Given the description of an element on the screen output the (x, y) to click on. 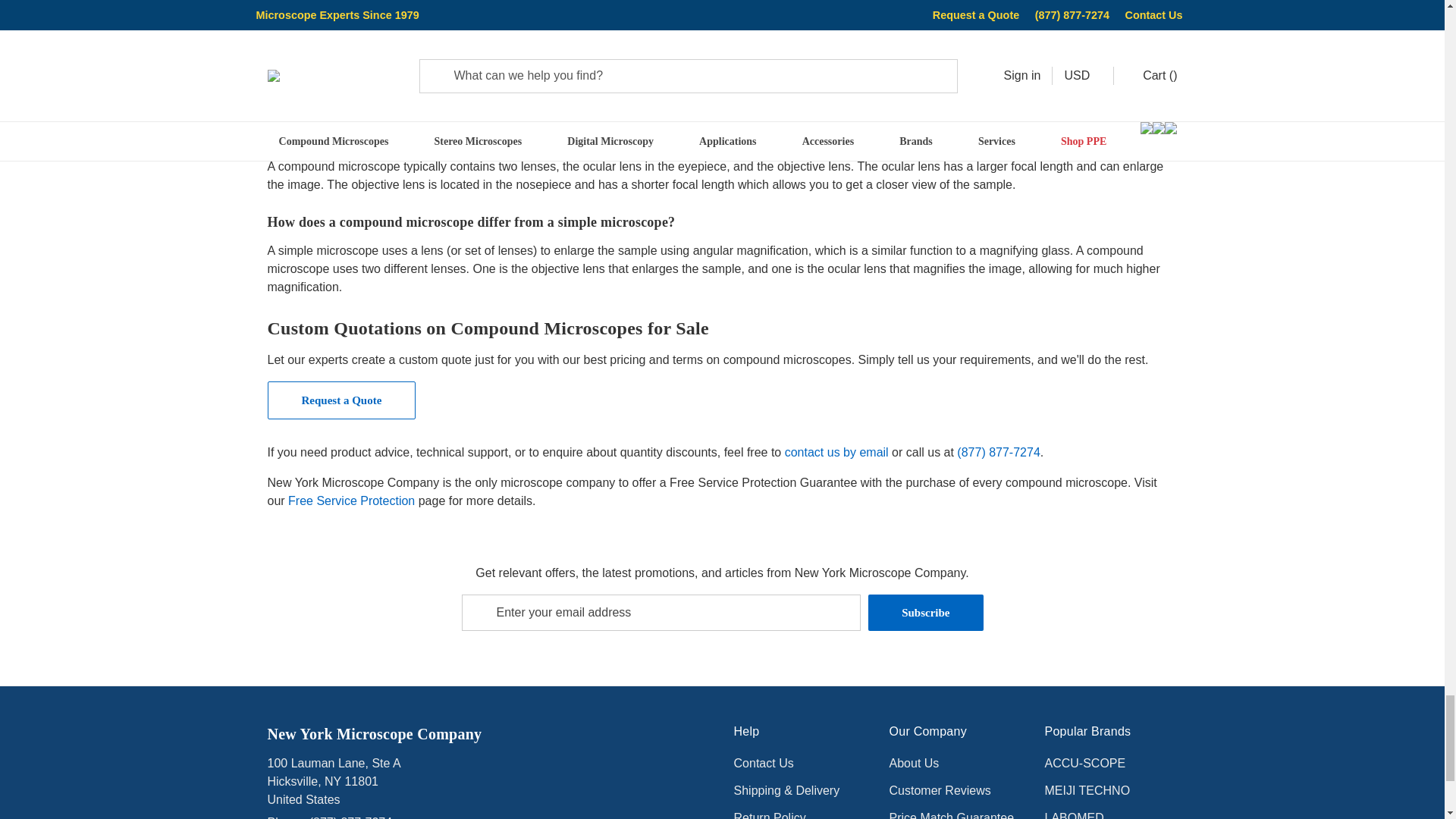
Subscribe (924, 612)
